Given the description of an element on the screen output the (x, y) to click on. 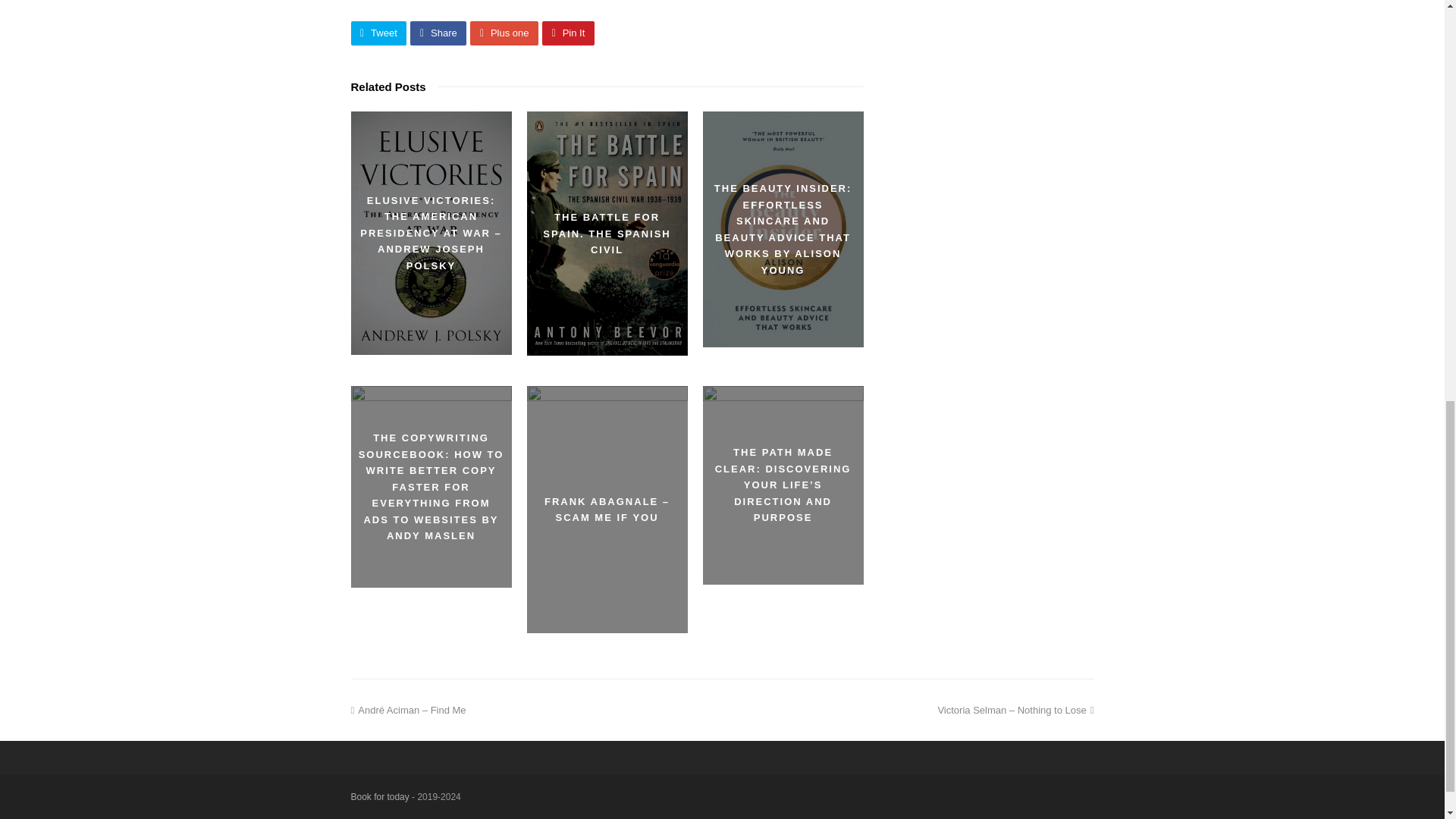
Share (437, 33)
Share on Facebook (437, 33)
Tweet (378, 33)
Plus one (504, 33)
Book for today (379, 796)
Share on Twitter (378, 33)
Pin It (567, 33)
Share on Pinterest (567, 33)
